Given the description of an element on the screen output the (x, y) to click on. 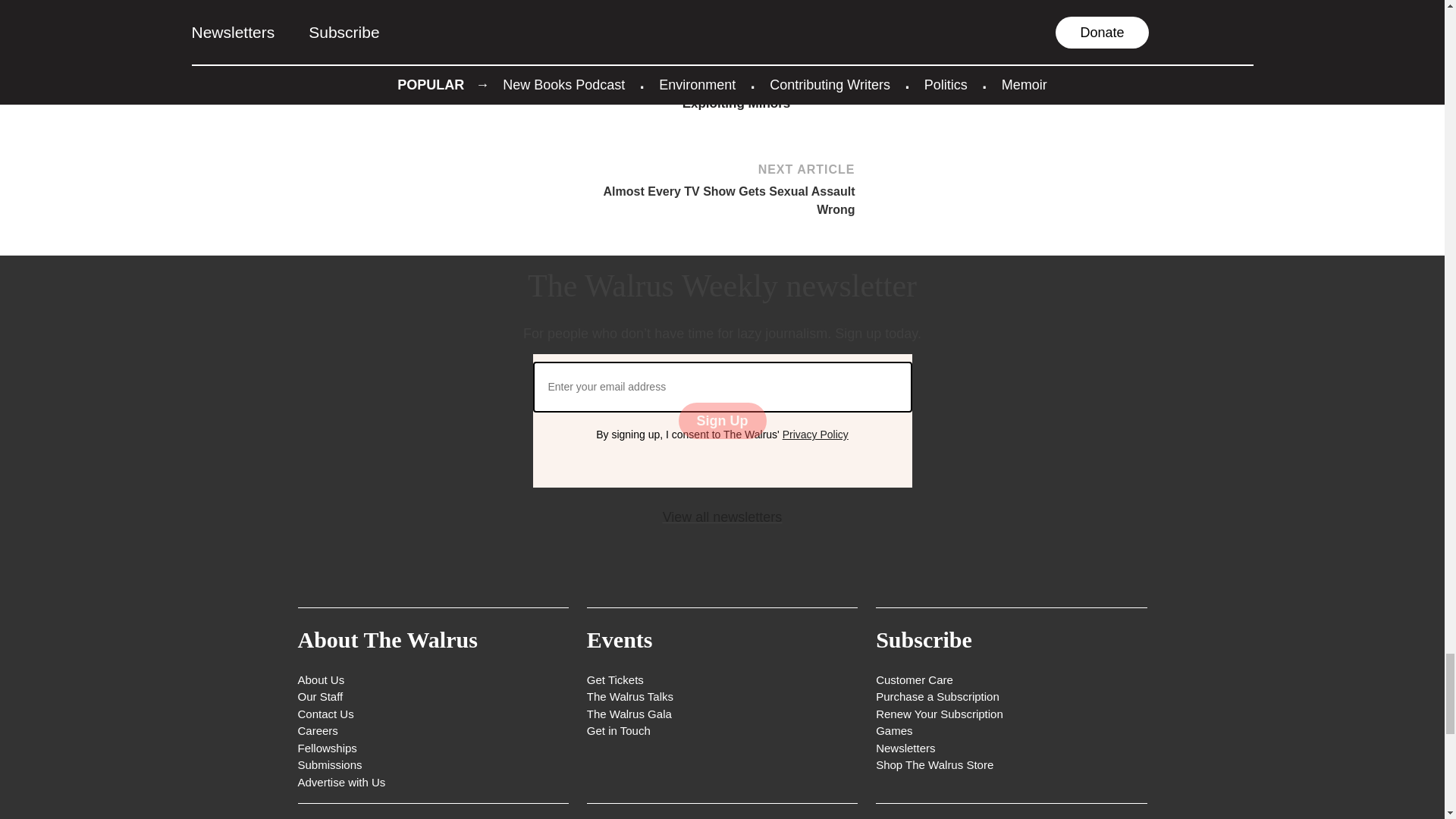
How Could They Just Lose Him? (383, 51)
How Could They Just Lose Him? (379, 77)
